Given the description of an element on the screen output the (x, y) to click on. 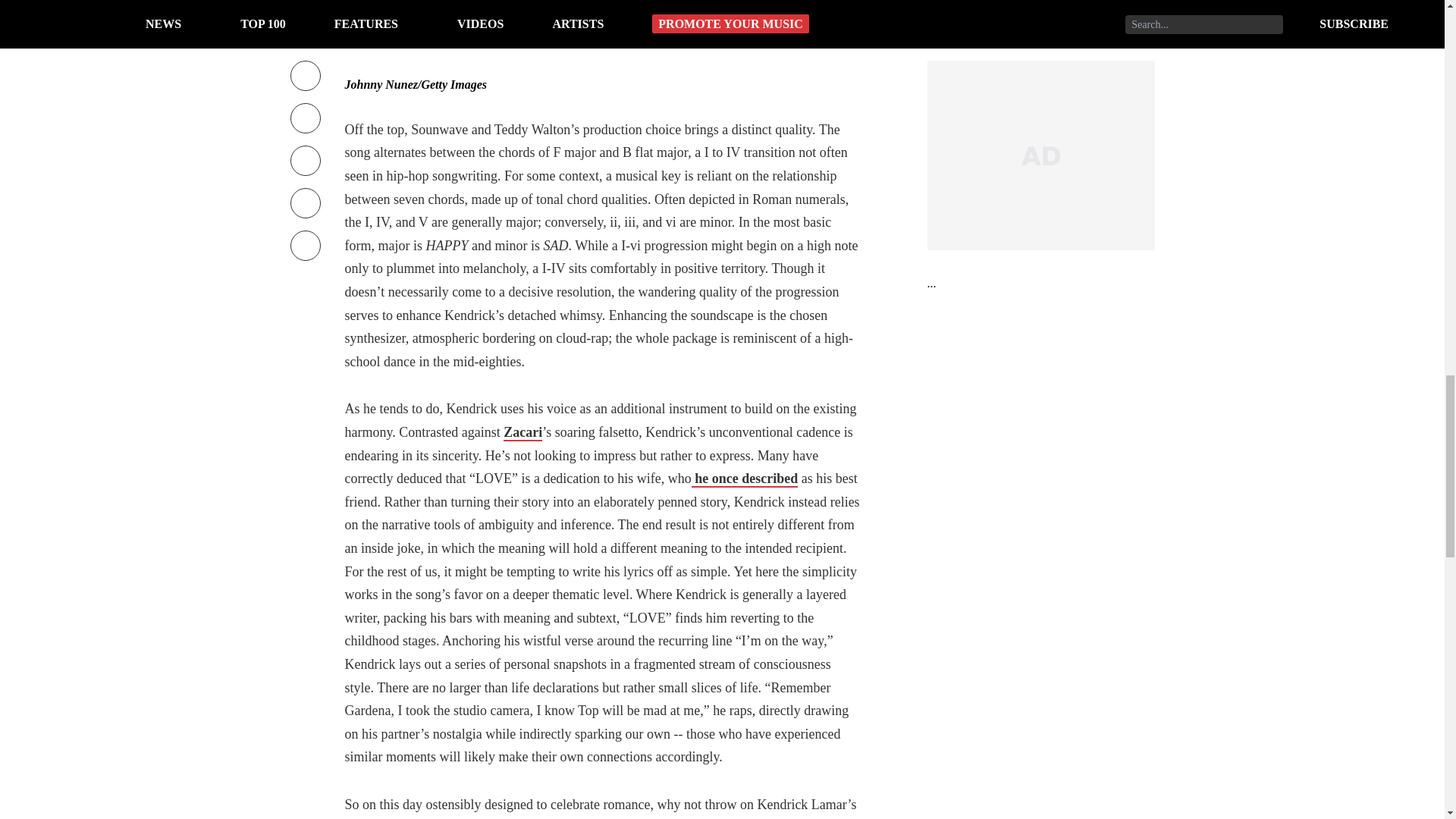
Zacari (522, 433)
he once described (744, 478)
